Given the description of an element on the screen output the (x, y) to click on. 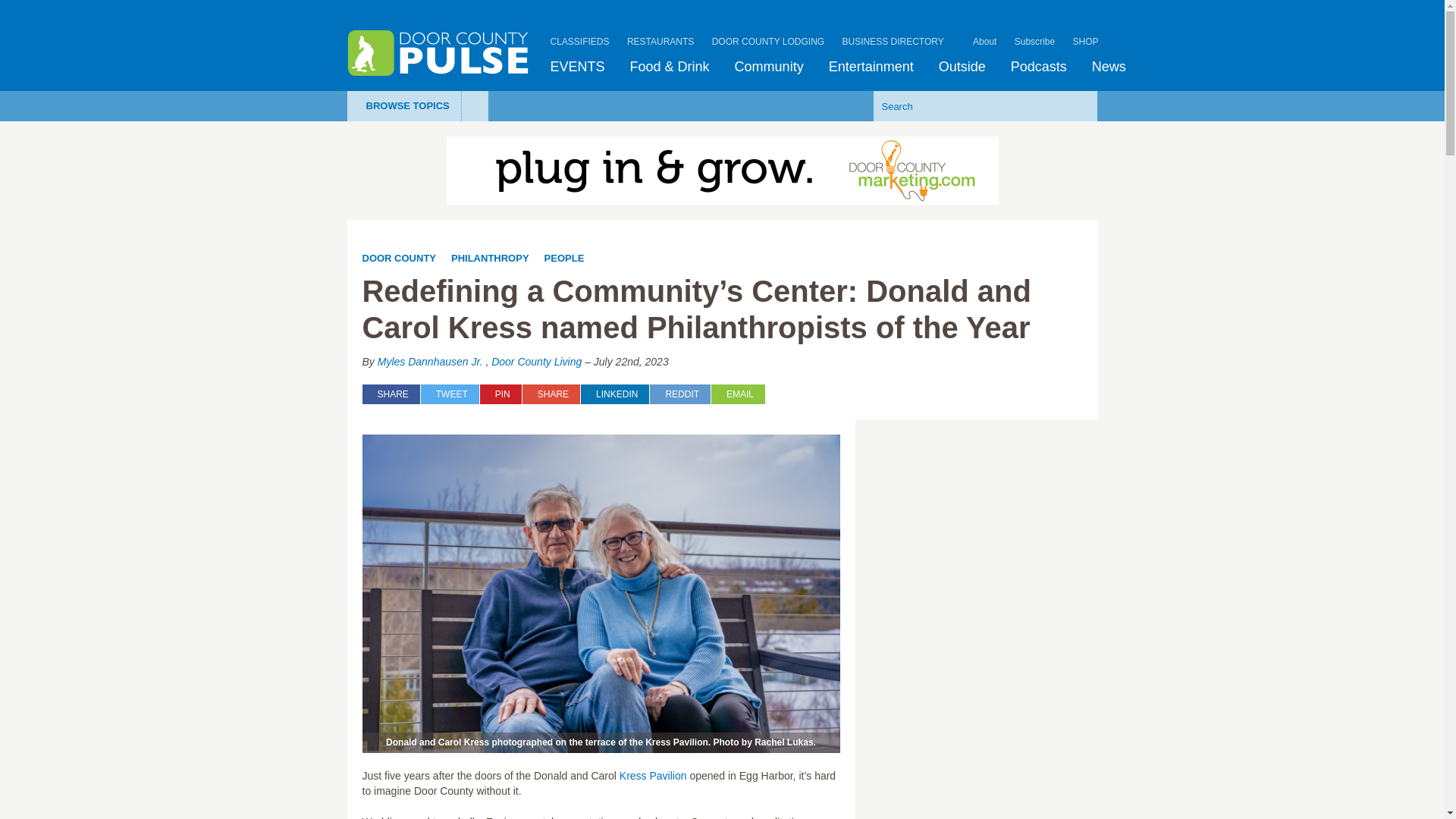
Entertainment (871, 66)
Community (768, 66)
Door County Pulse (437, 53)
Posts by Myles Dannhausen Jr. (430, 361)
Search for: (962, 105)
Outside (961, 66)
EVENTS (577, 66)
